Given the description of an element on the screen output the (x, y) to click on. 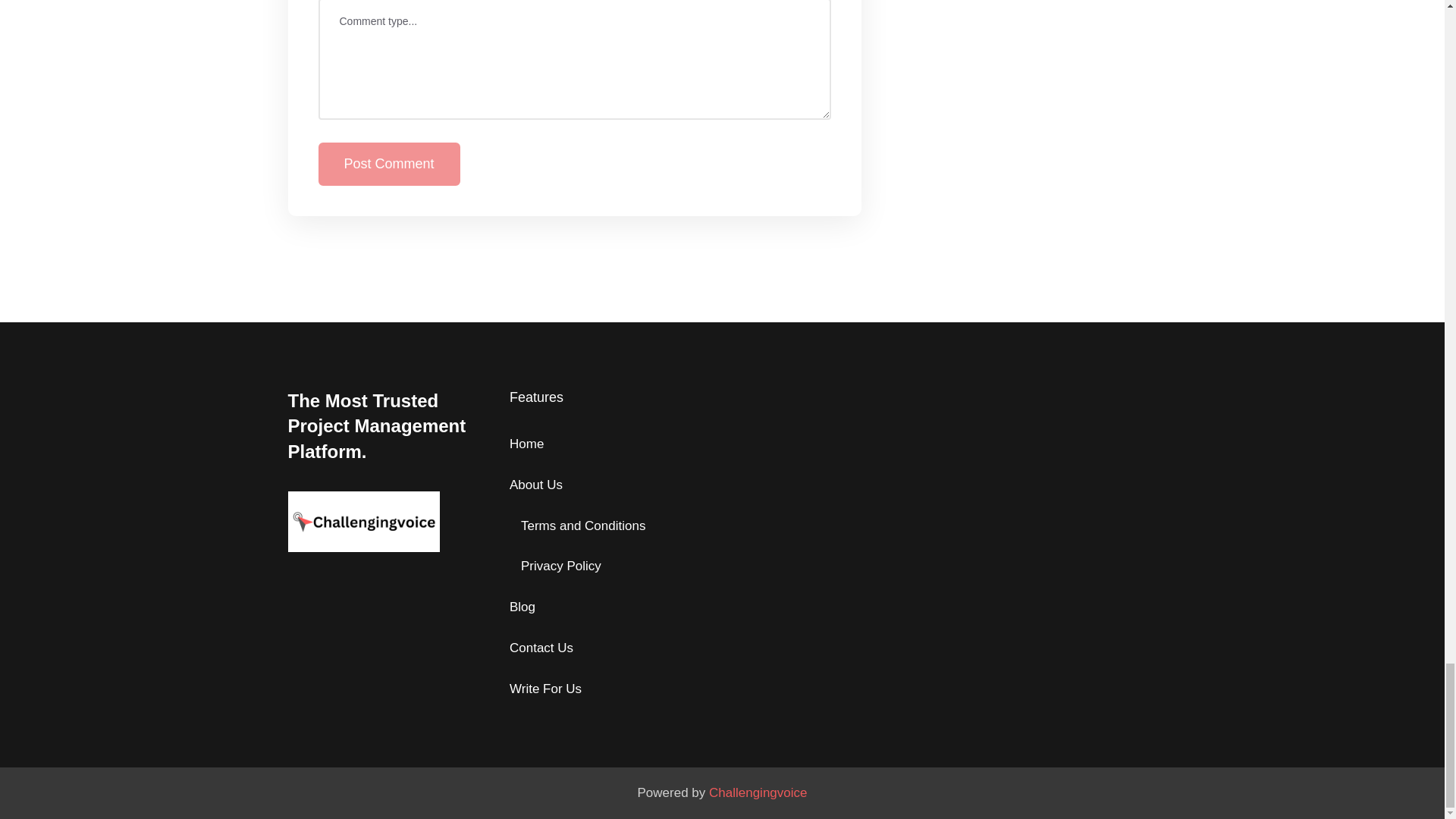
Post Comment (389, 163)
